Given the description of an element on the screen output the (x, y) to click on. 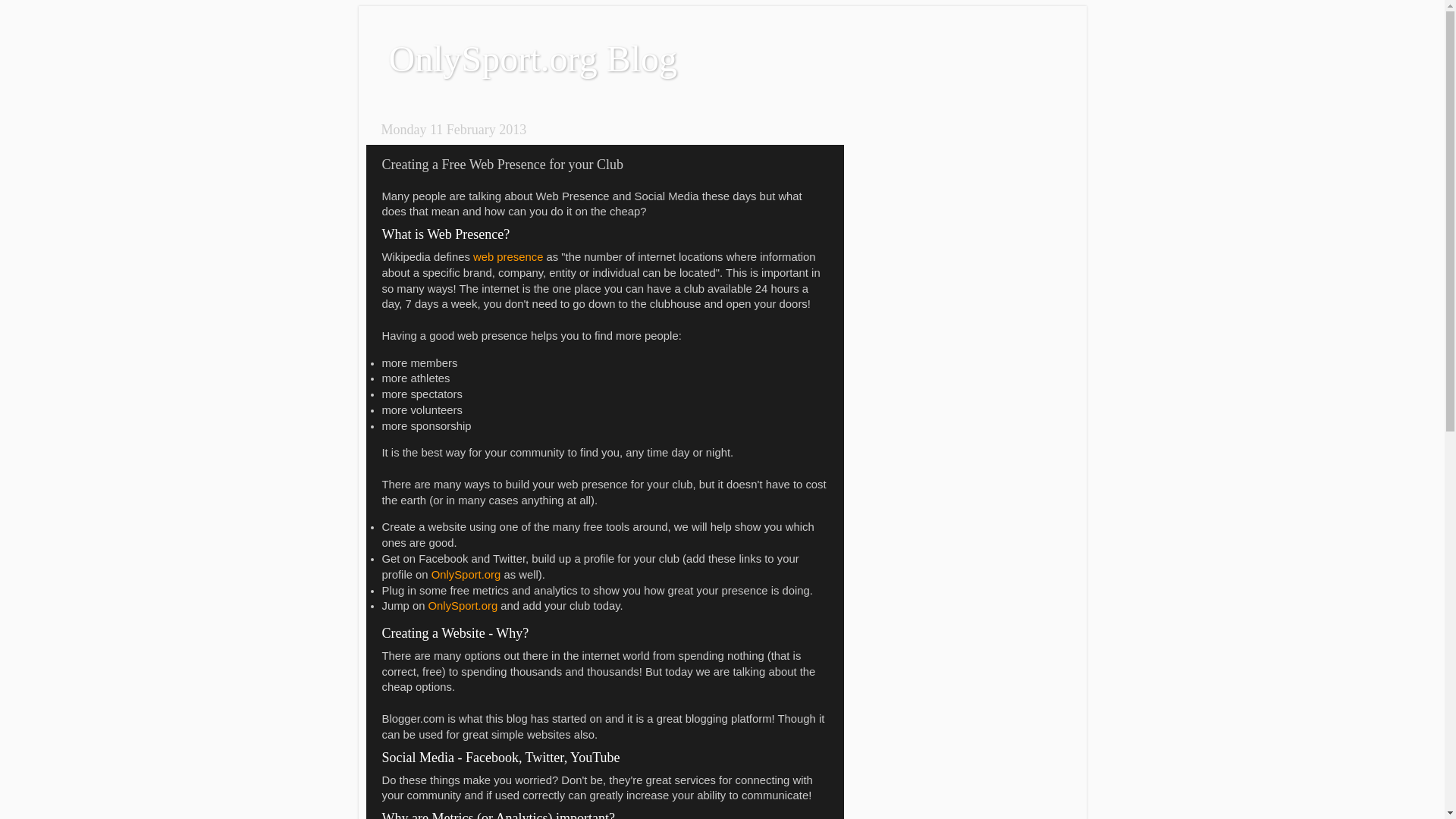
OnlySport.org (462, 605)
OnlySport.org (465, 574)
OnlySport.org Blog (532, 58)
web presence (508, 256)
